Given the description of an element on the screen output the (x, y) to click on. 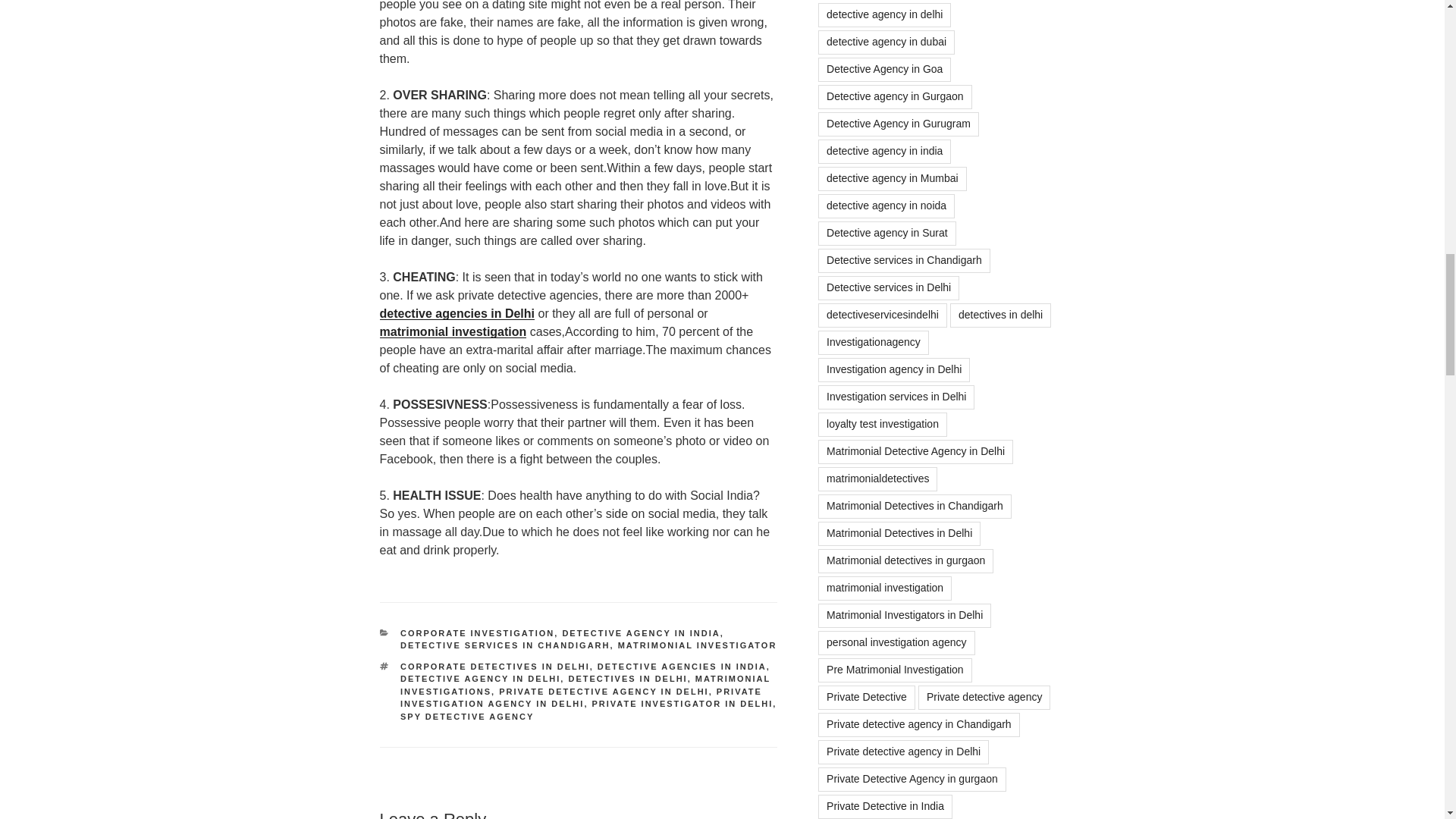
DETECTIVE AGENCY IN DELHI (480, 678)
detective agencies in Delhi (456, 313)
CORPORATE DETECTIVES IN DELHI (494, 665)
matrimonial investigation (451, 331)
DETECTIVES IN DELHI (627, 678)
DETECTIVE AGENCIES IN INDIA (681, 665)
CORPORATE INVESTIGATION (477, 633)
PRIVATE INVESTIGATION AGENCY IN DELHI (580, 698)
MATRIMONIAL INVESTIGATIONS (585, 685)
PRIVATE DETECTIVE AGENCY IN DELHI (603, 691)
